Given the description of an element on the screen output the (x, y) to click on. 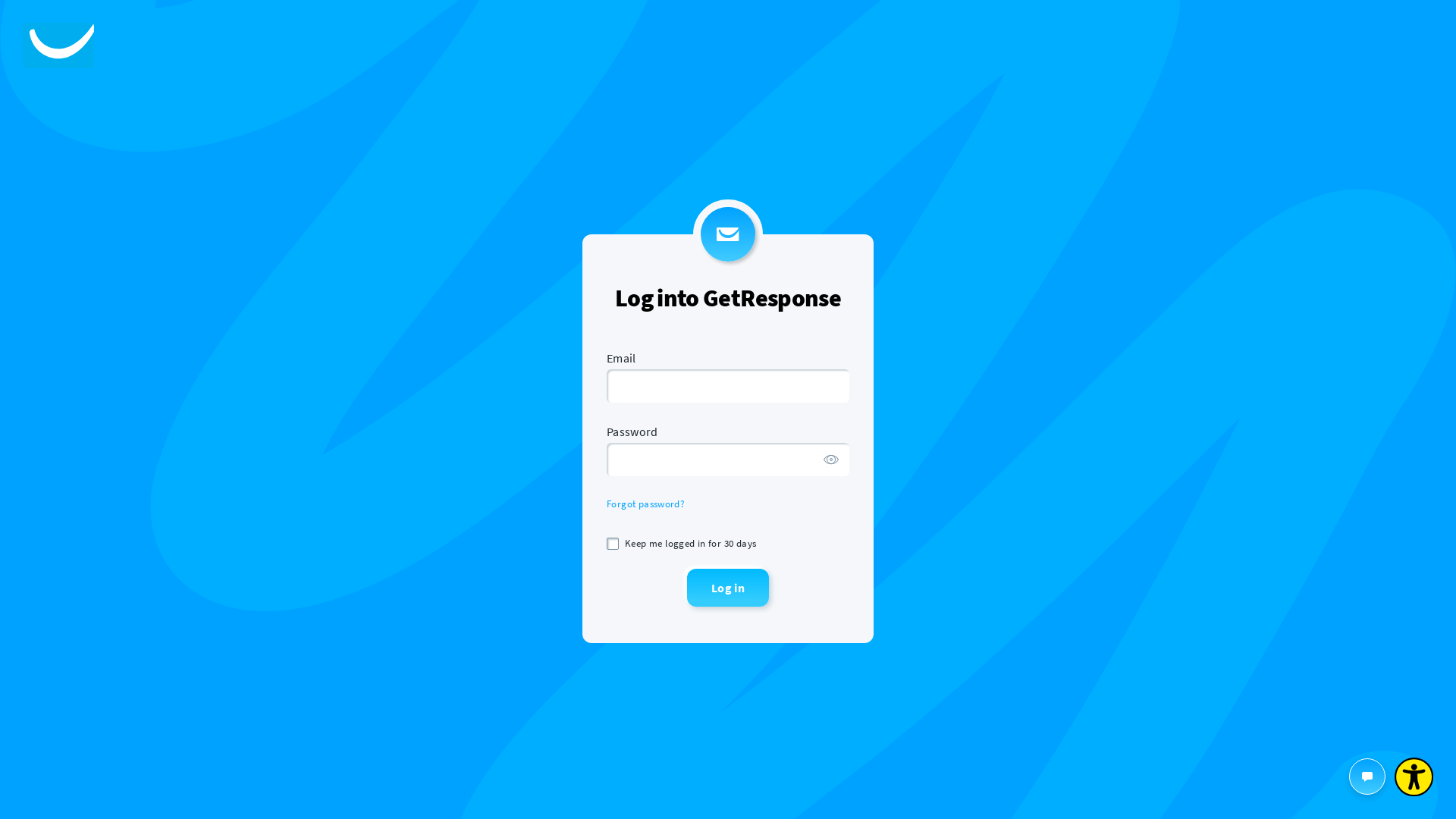
Log in Element type: text (728, 587)
Forgot password? Element type: text (645, 504)
